Given the description of an element on the screen output the (x, y) to click on. 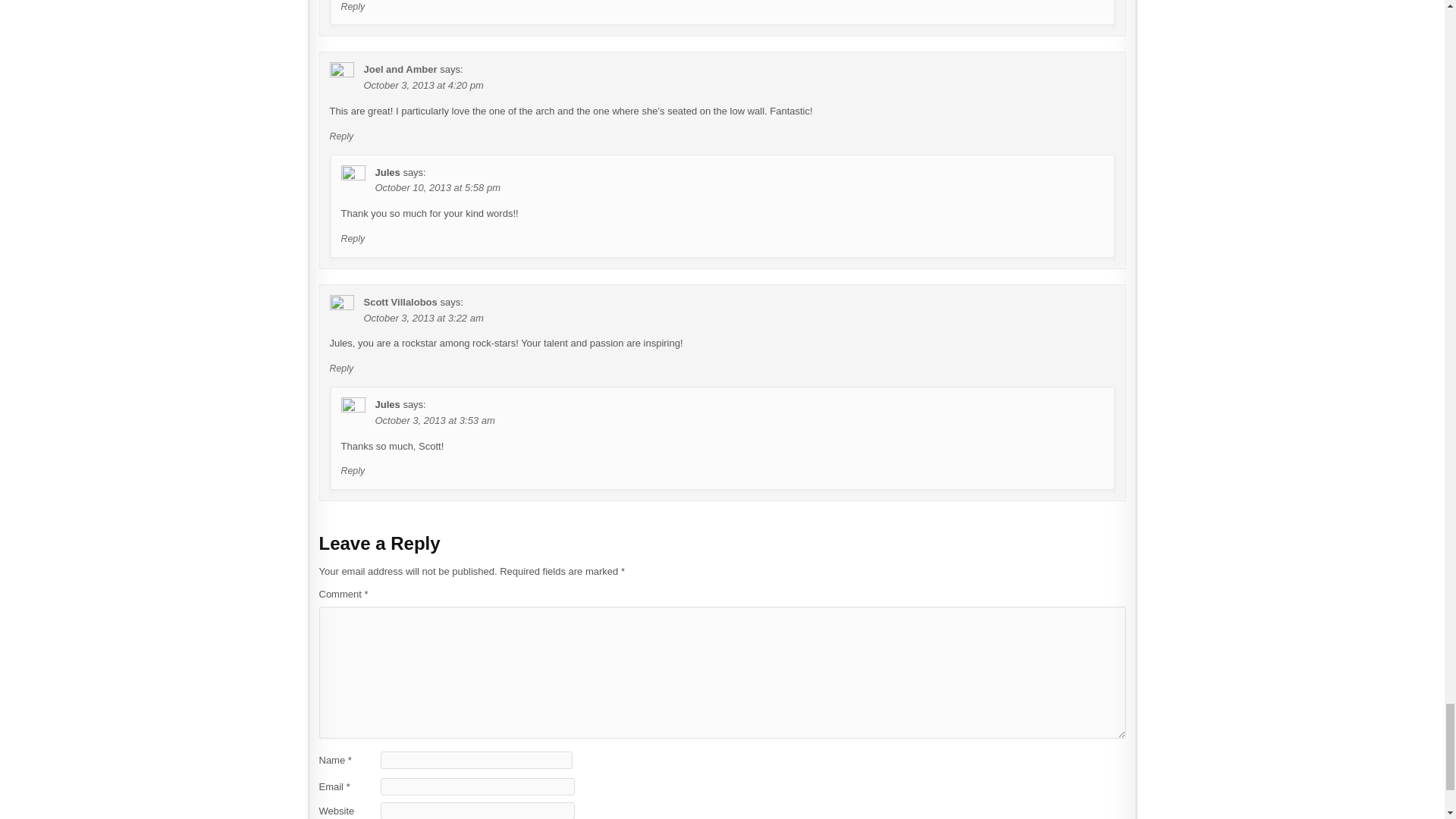
Scott Villalobos (401, 301)
October 3, 2013 at 3:22 am (423, 317)
October 10, 2013 at 5:58 pm (437, 187)
Reply (352, 6)
Reply (341, 368)
Reply (341, 136)
October 3, 2013 at 3:53 am (434, 419)
October 3, 2013 at 4:20 pm (423, 84)
Reply (352, 238)
Reply (352, 470)
Joel and Amber (401, 69)
